Given the description of an element on the screen output the (x, y) to click on. 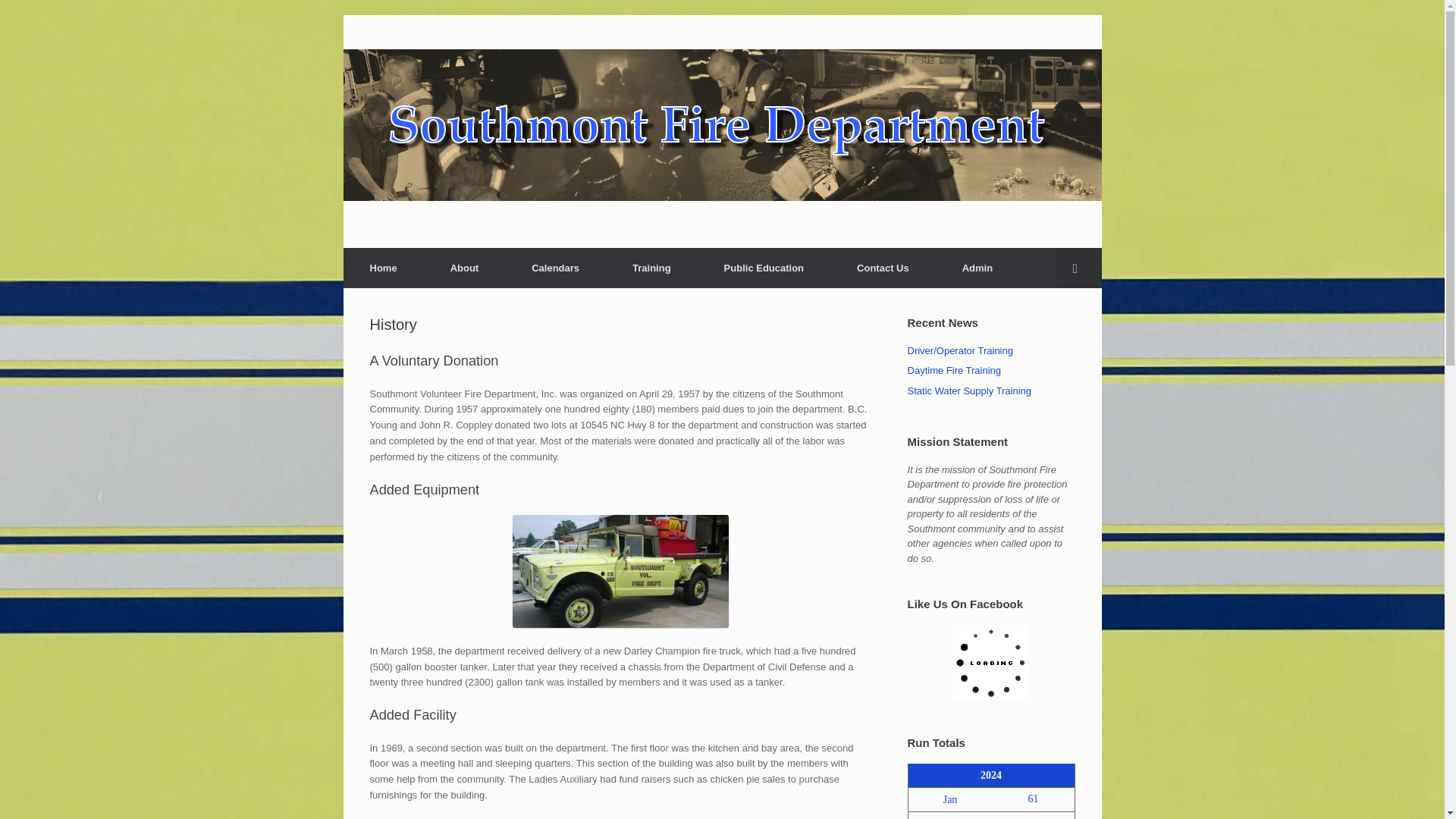
Home (382, 268)
Public Education (763, 268)
Daytime Fire Training (954, 369)
About (464, 268)
Calendars (555, 268)
Training (651, 268)
Static Water Supply Training (969, 390)
Contact Us (882, 268)
Admin (977, 268)
Southmont Fire Department, Inc. (721, 124)
